Given the description of an element on the screen output the (x, y) to click on. 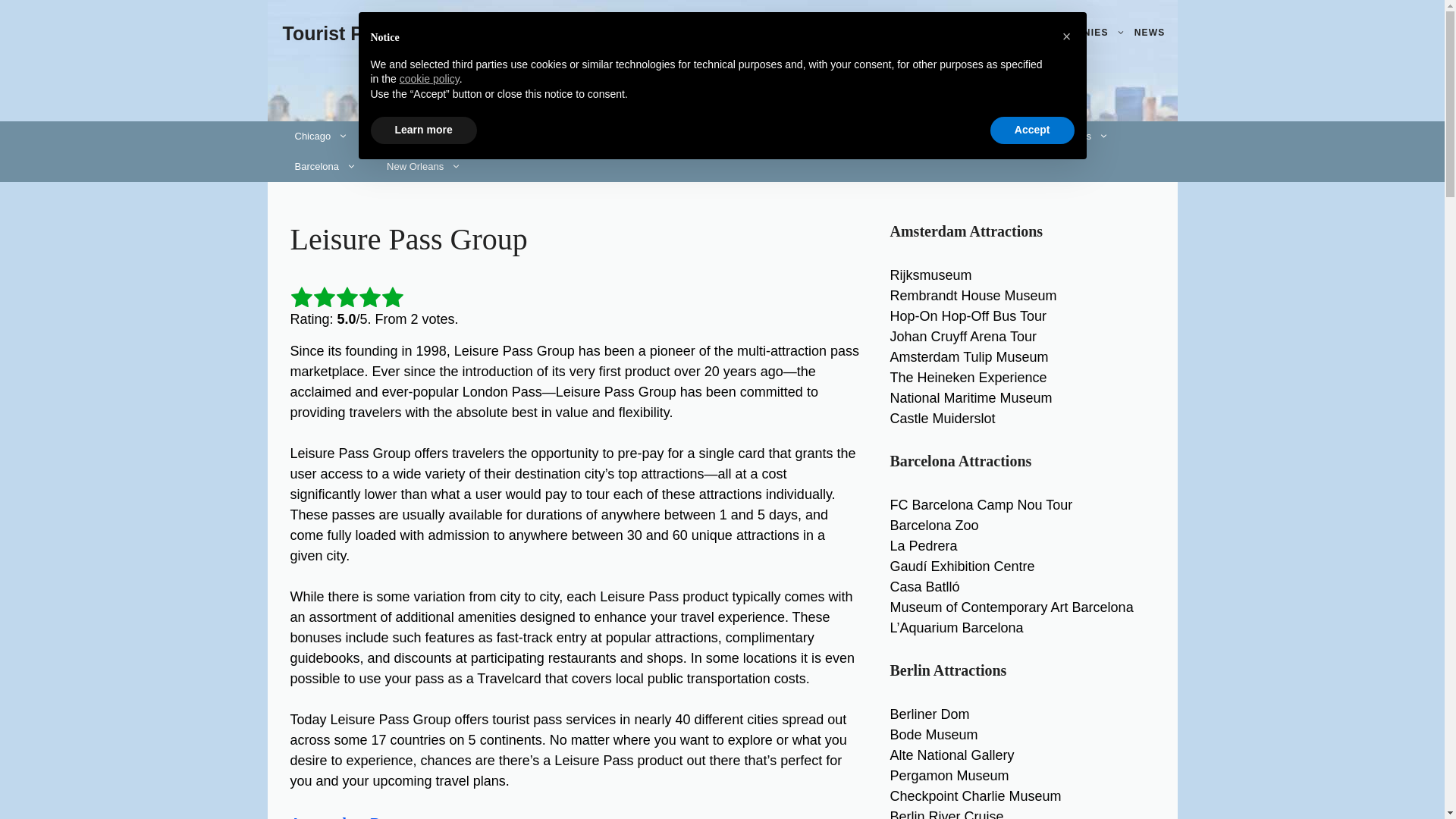
San Diego (576, 136)
Las Vegas (670, 136)
GO CITY (735, 32)
Hawaii (490, 136)
Tourist Pass (338, 33)
New York (407, 136)
OTHER COMPANIES (1065, 32)
Chicago (320, 136)
THE SIGHTSEEING PASS (924, 32)
NEWS (1149, 32)
CITYPASS (808, 32)
